Given the description of an element on the screen output the (x, y) to click on. 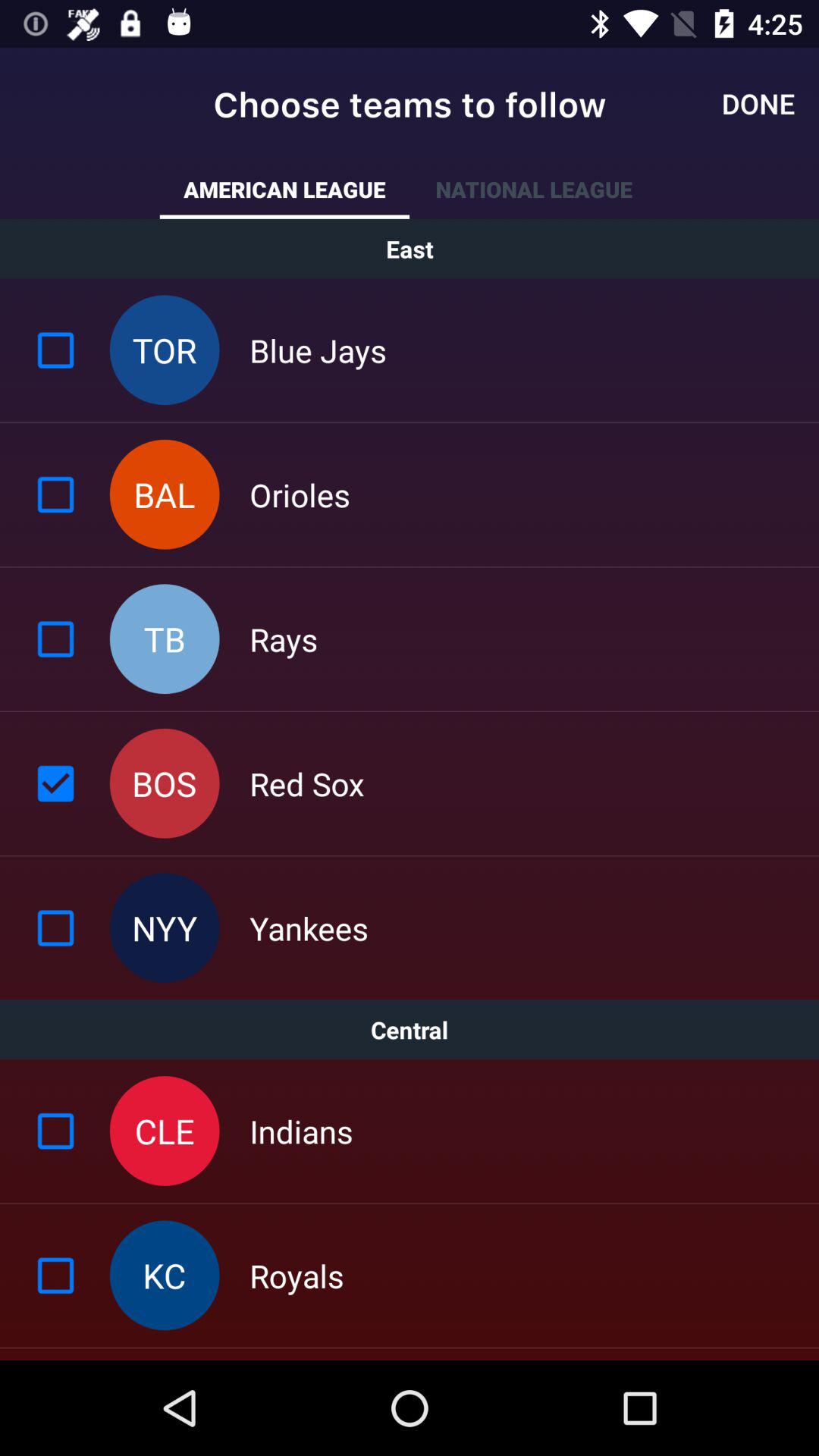
choose item next to the choose teams to icon (758, 103)
